Given the description of an element on the screen output the (x, y) to click on. 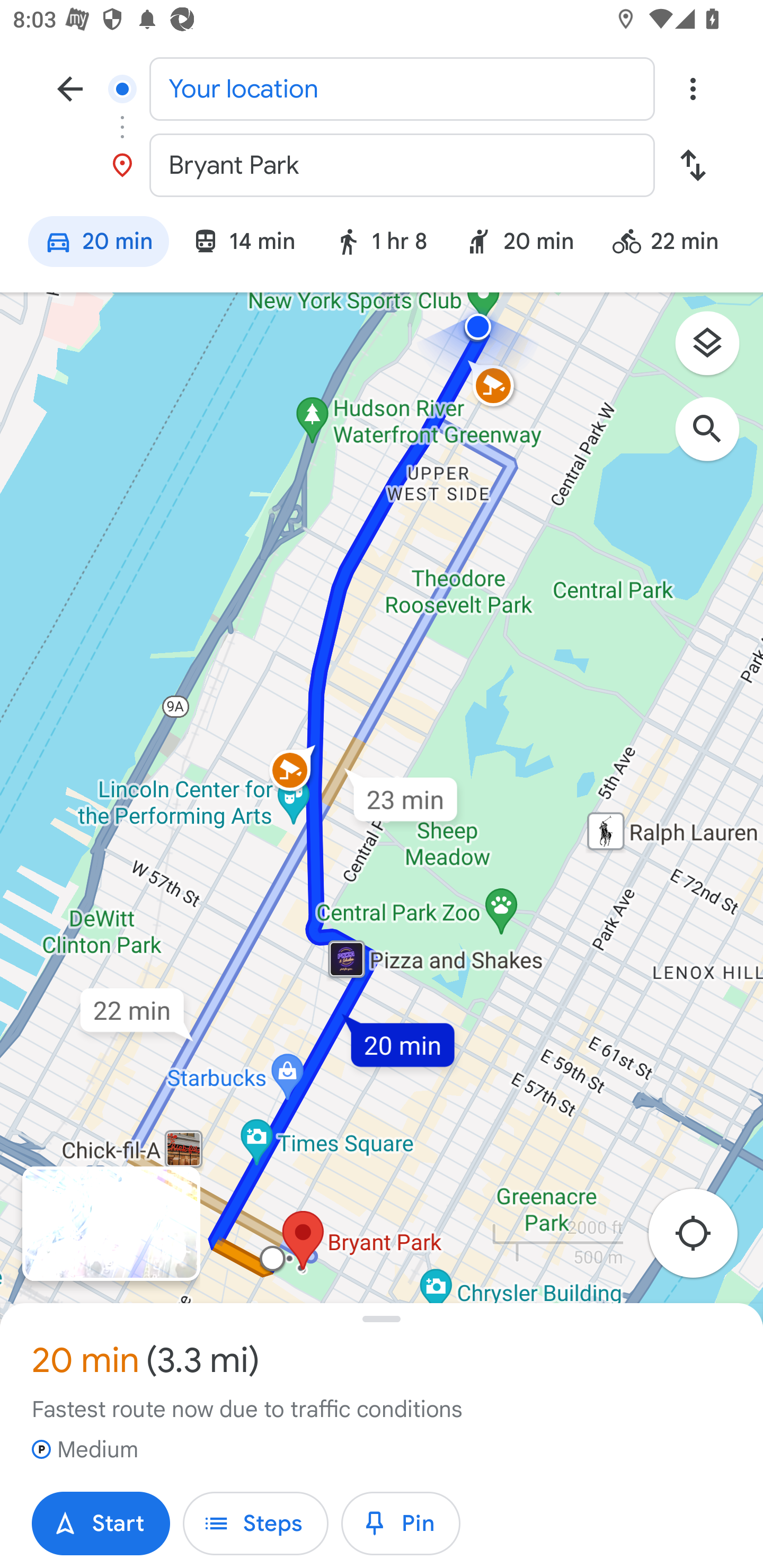
Navigate up (70, 88)
Your location Start location, Your location (381, 88)
Overflow menu (692, 88)
Bryant Park Destination, Bryant Park (381, 165)
Swap start and destination (692, 165)
Transit mode: 14 min 14 min (243, 244)
Walking mode: 1 hr 8 1 hr 8 (380, 244)
Ride service: 20 min 20 min (519, 244)
Bicycling mode: 22 min 22 min (673, 244)
Layers (716, 349)
Search along route (716, 438)
Open Immersive View for routes (110, 1223)
Re-center map to your location (702, 1238)
Steps Steps Steps (255, 1522)
Pin trip Pin Pin trip (400, 1522)
